Given the description of an element on the screen output the (x, y) to click on. 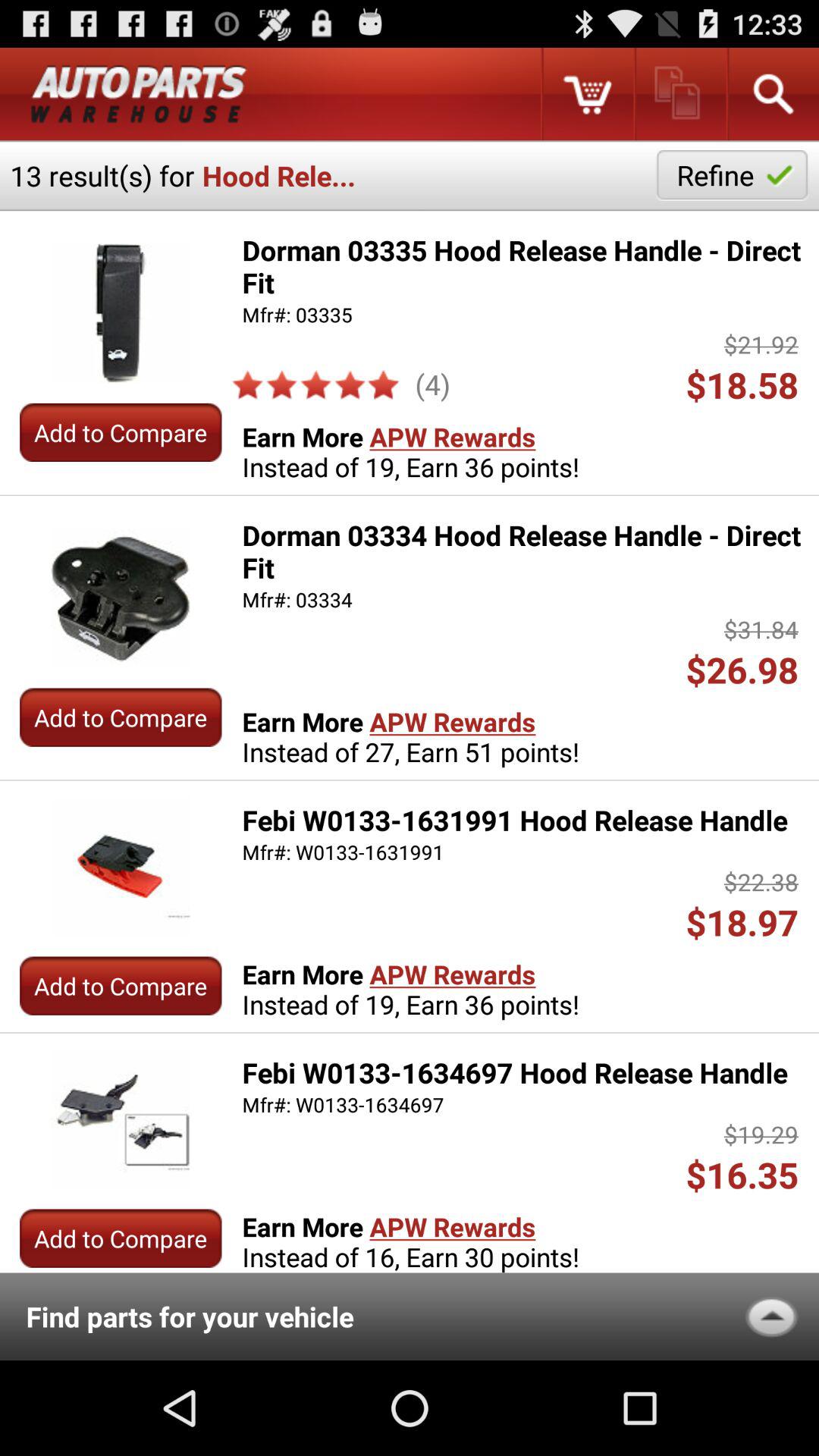
go to homepage (138, 93)
